Given the description of an element on the screen output the (x, y) to click on. 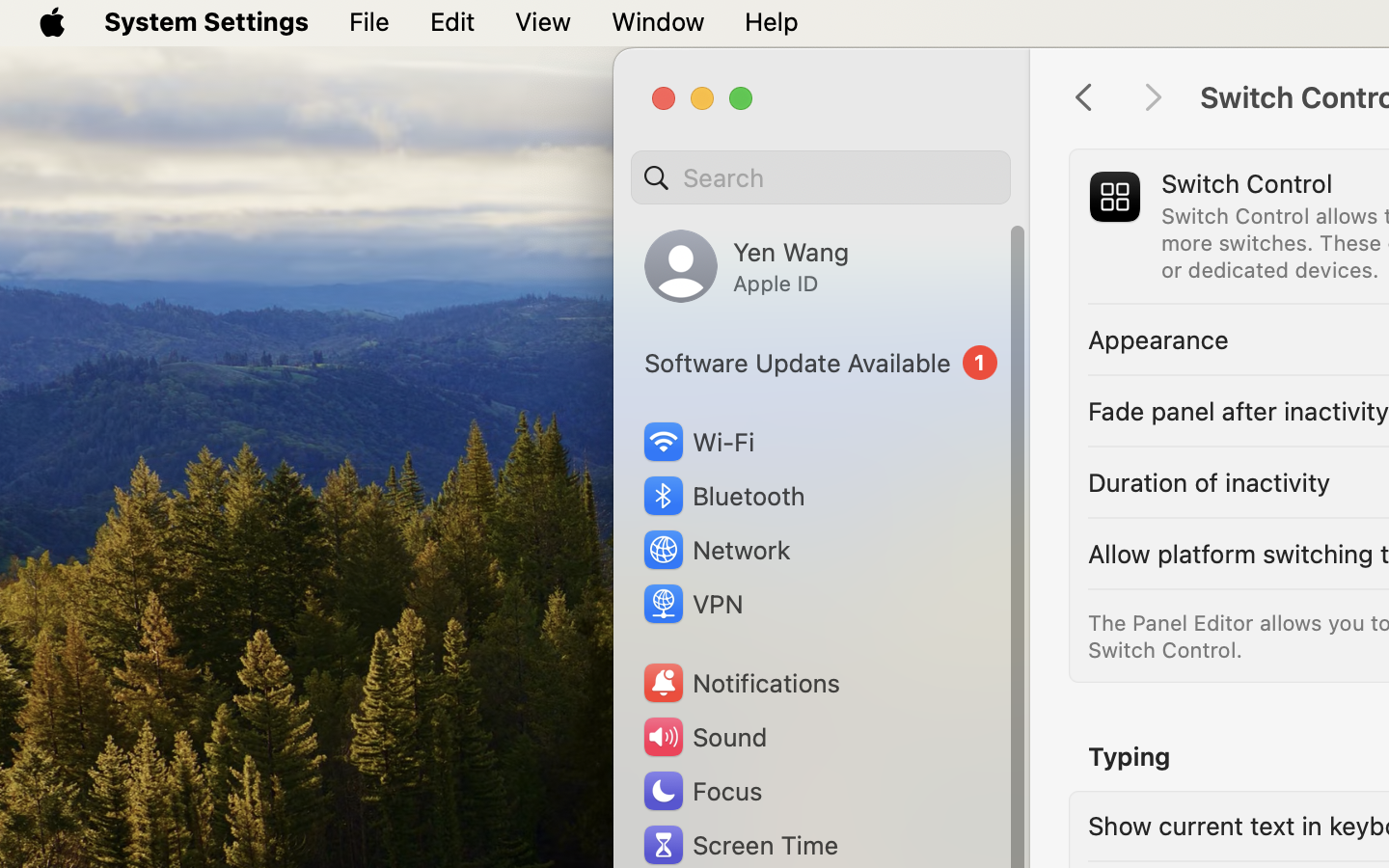
Sound Element type: AXStaticText (703, 736)
Bluetooth Element type: AXStaticText (723, 495)
Appearance Element type: AXStaticText (1158, 339)
VPN Element type: AXStaticText (691, 603)
